Given the description of an element on the screen output the (x, y) to click on. 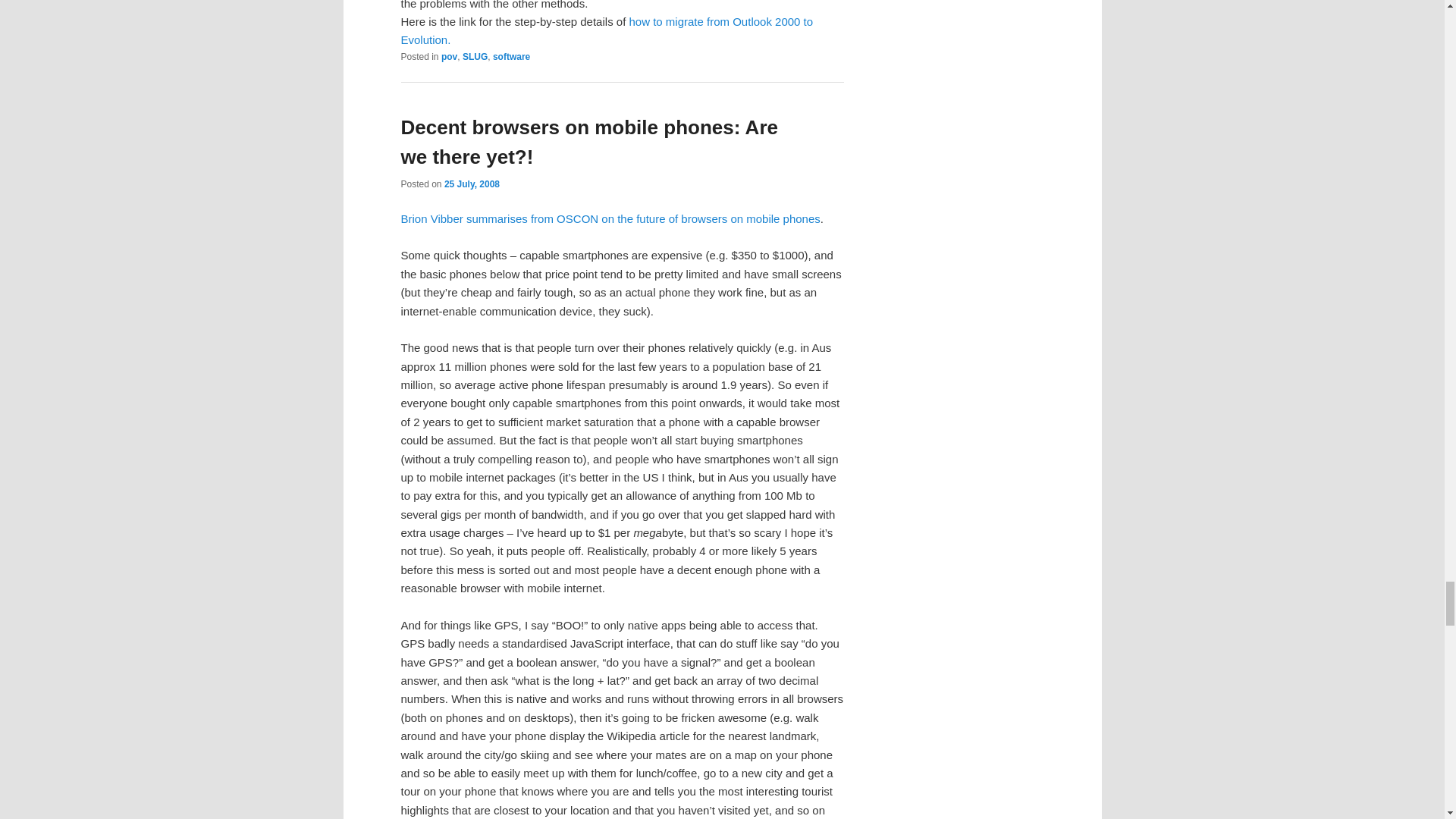
5:23 pm (471, 184)
